Given the description of an element on the screen output the (x, y) to click on. 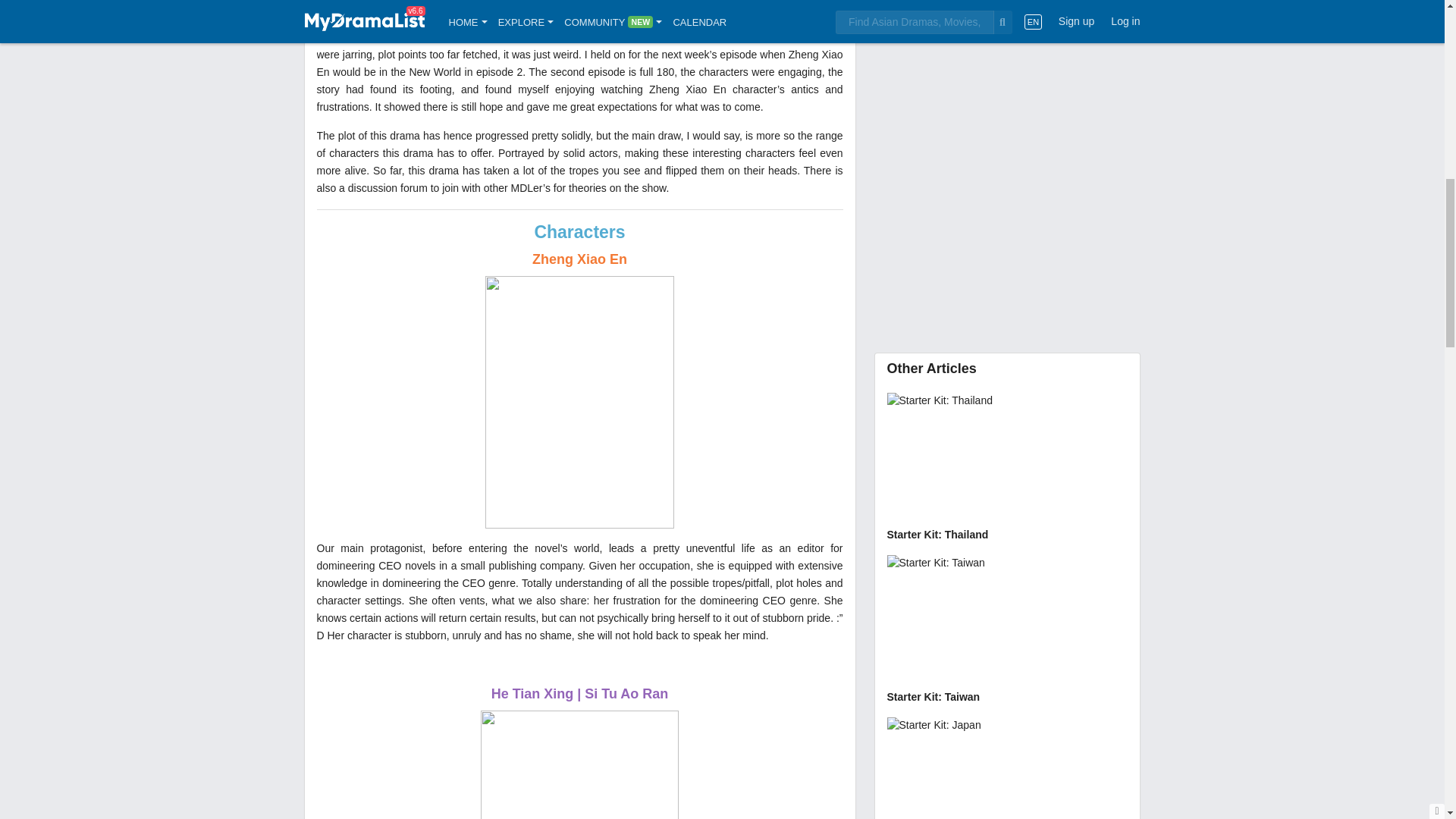
Starter Kit: Thailand (1007, 469)
Starter Kit: Taiwan (1007, 631)
Starter Kit: Japan (1007, 768)
